Given the description of an element on the screen output the (x, y) to click on. 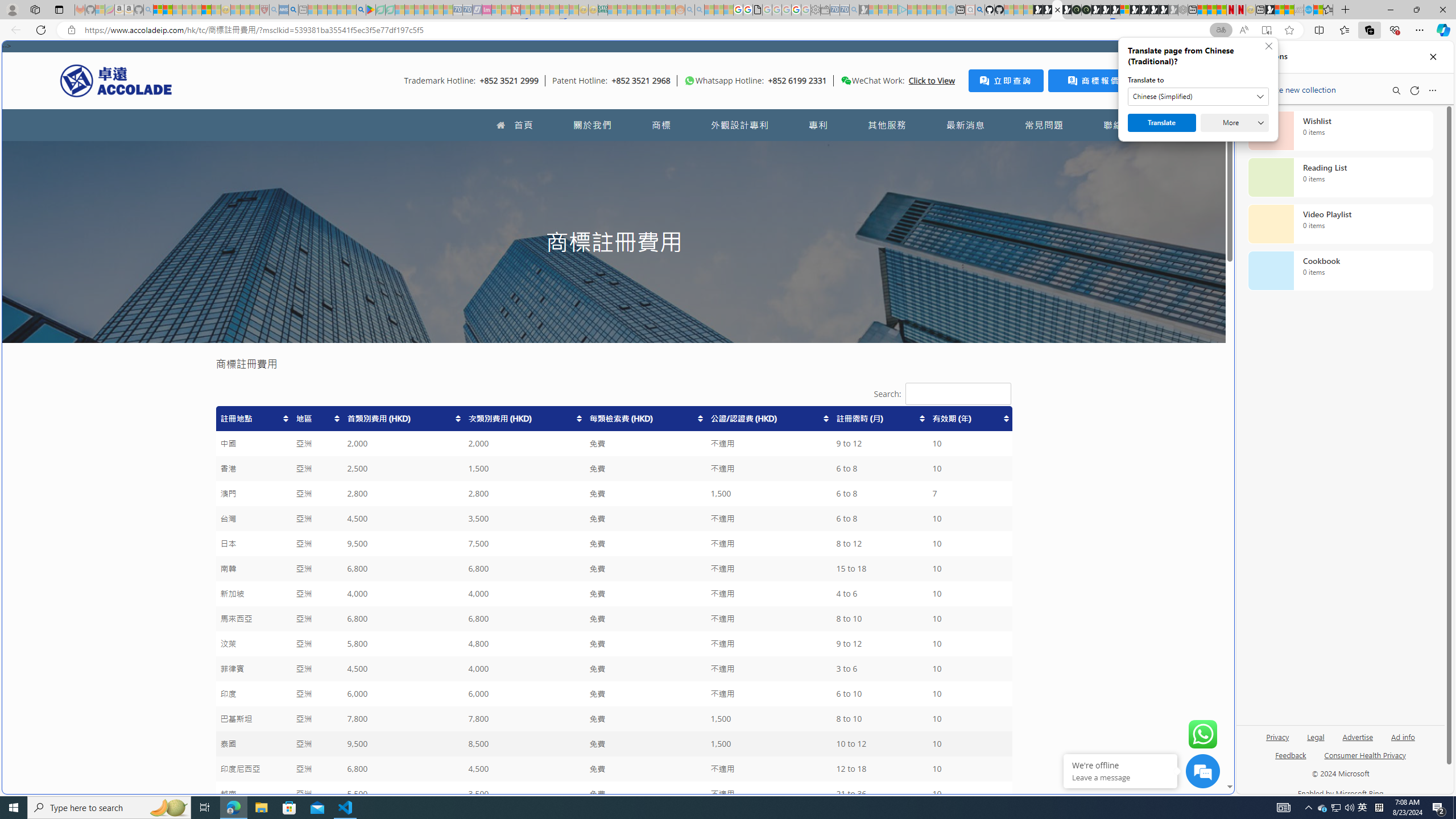
6 to 8 (879, 518)
MSN (1269, 9)
Utah sues federal government - Search - Sleeping (699, 9)
Class: row-2 even (613, 443)
Play Cave FRVR in your browser | Games from Microsoft Start (1105, 9)
Kinda Frugal - MSN - Sleeping (651, 9)
5,800 (403, 643)
Recipes - MSN - Sleeping (234, 9)
Legal (1315, 736)
10 (969, 793)
Latest Politics News & Archive | Newsweek.com - Sleeping (515, 9)
